Given the description of an element on the screen output the (x, y) to click on. 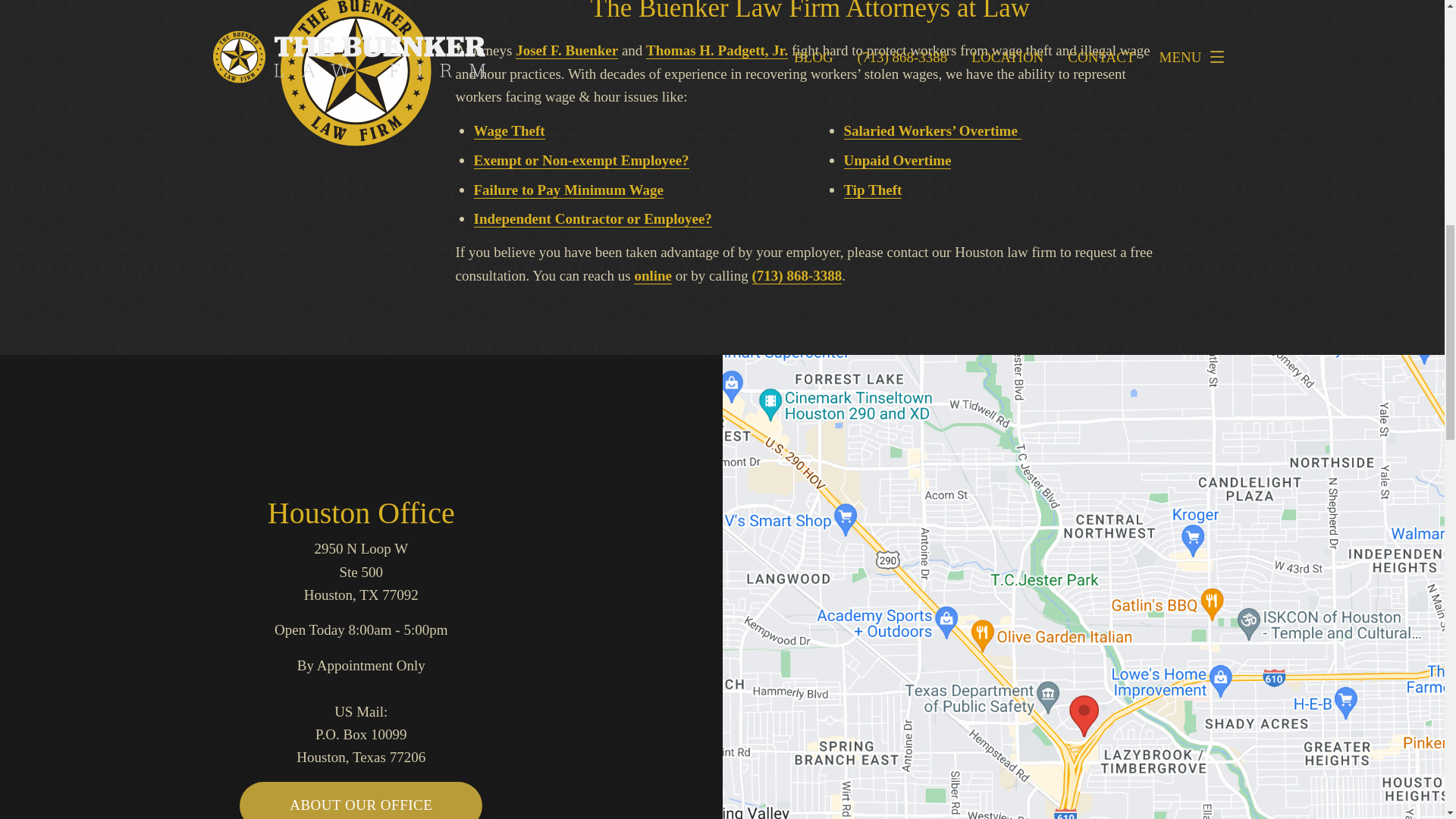
Wage Theft (508, 130)
Thomas H. Padgett, Jr. (716, 50)
Josef F. Buenker (566, 50)
Independent Contractor or Employee? (592, 218)
Exempt or Non-exempt Employee? (580, 160)
Tip Theft (872, 190)
Unpaid Overtime (896, 160)
ABOUT OUR OFFICE (360, 800)
Failure to Pay Minimum Wage (568, 190)
online (652, 275)
